Given the description of an element on the screen output the (x, y) to click on. 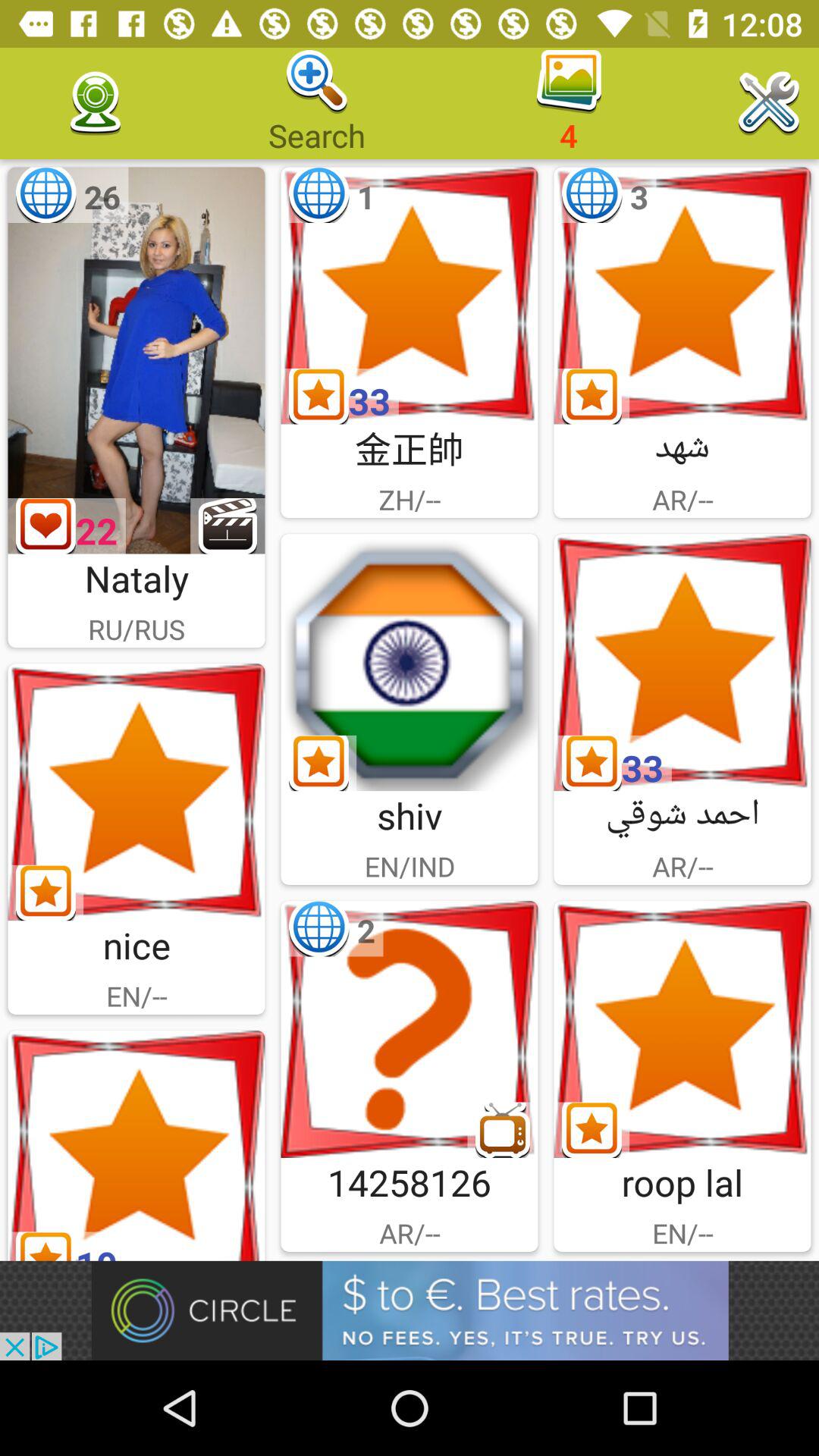
open picture (682, 662)
